Given the description of an element on the screen output the (x, y) to click on. 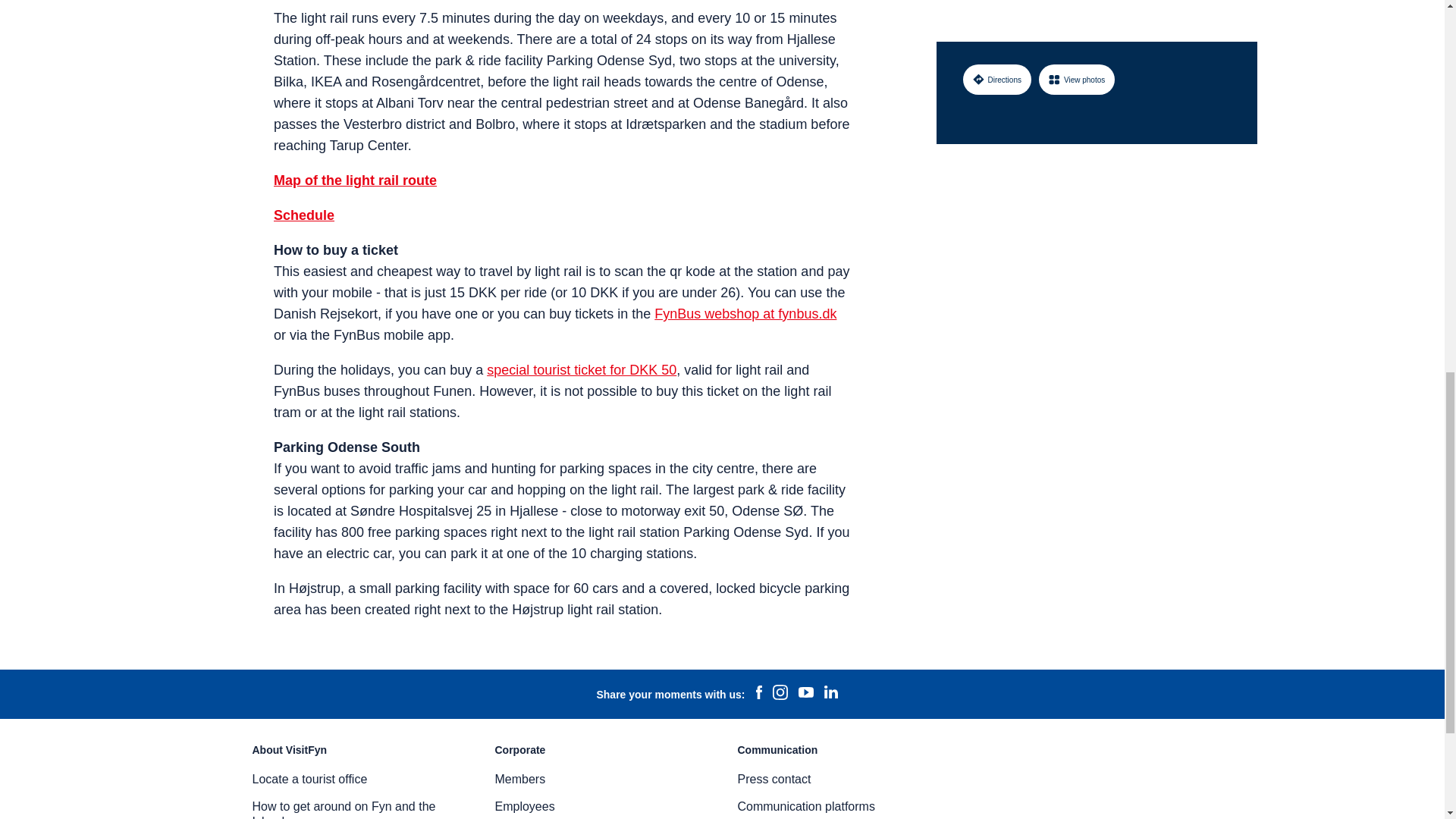
Employees (524, 806)
How to get around on Fyn and the Islands (343, 809)
Communication platforms (805, 806)
special tourist ticket for DKK 50 (581, 369)
Employees (524, 806)
FynBus webshop (744, 313)
Locate a tourist office (308, 779)
Locate a tourist office (308, 779)
Map of the light rail route (354, 180)
facebook (759, 694)
